Given the description of an element on the screen output the (x, y) to click on. 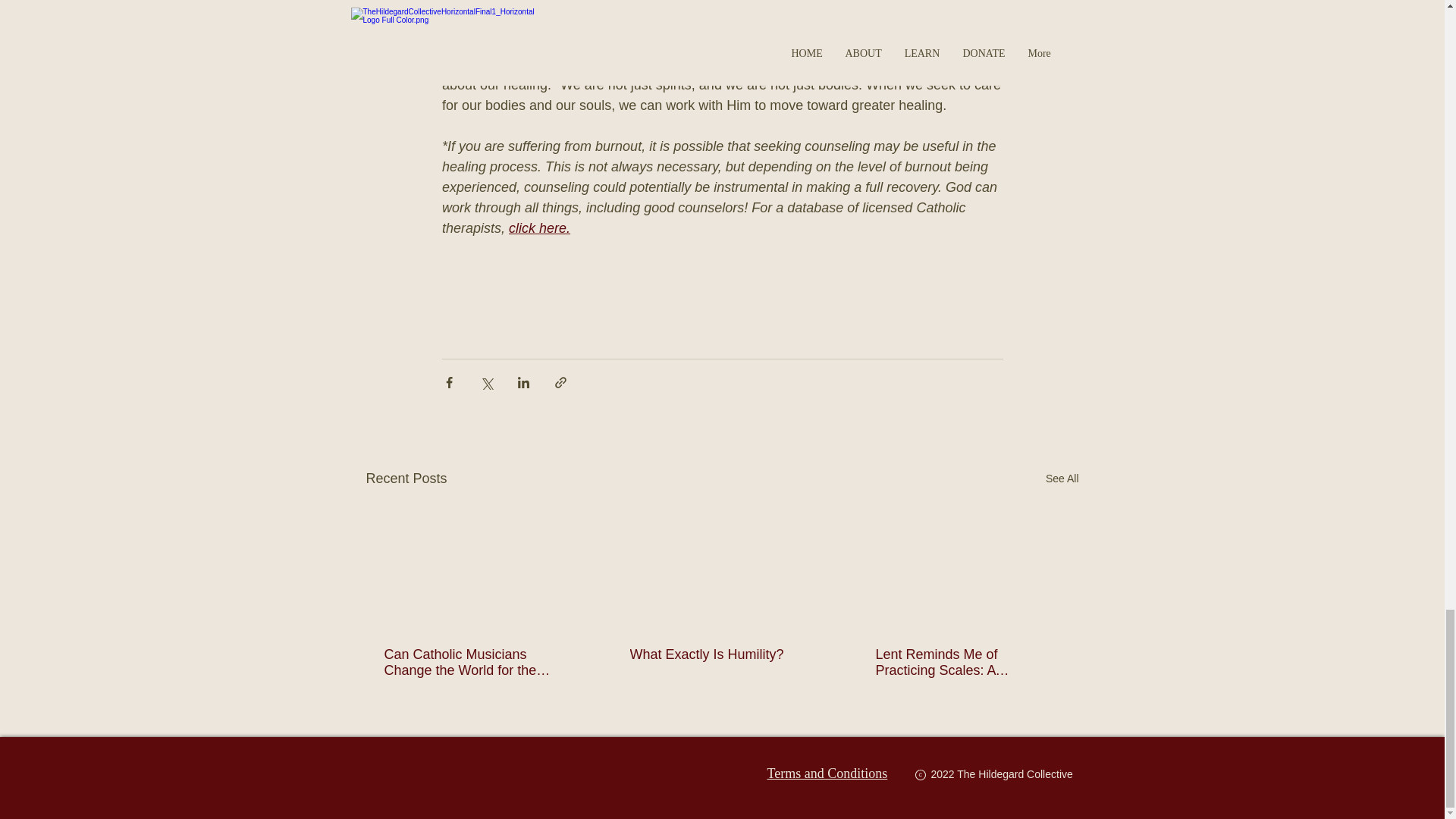
Terms and Conditions (827, 773)
See All (1061, 478)
click here. (539, 227)
What Exactly Is Humility? (720, 654)
